Given the description of an element on the screen output the (x, y) to click on. 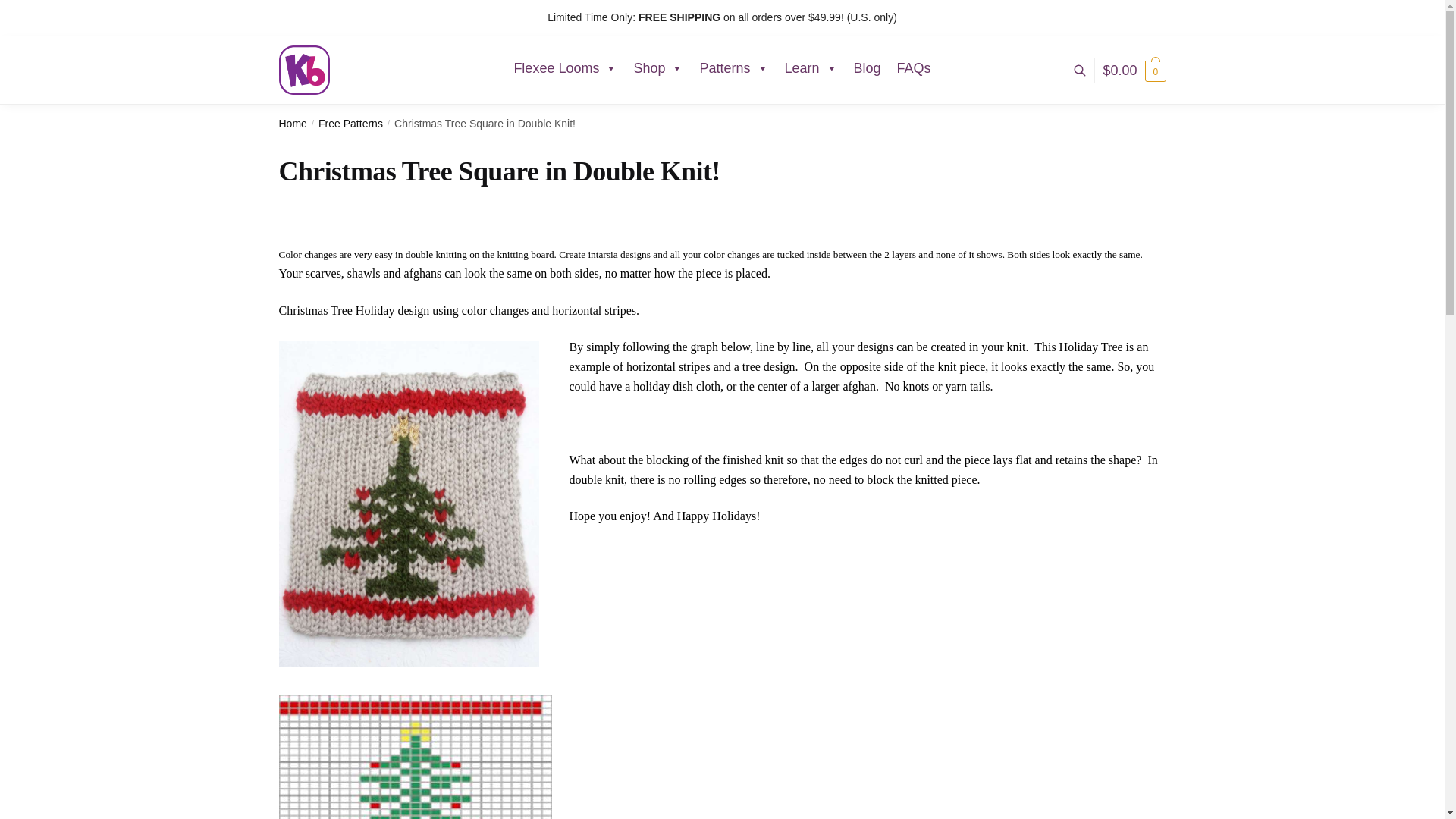
Learn (811, 68)
View your shopping cart (1134, 70)
Shop (658, 68)
Flexee Looms (564, 68)
Patterns (733, 68)
